Given the description of an element on the screen output the (x, y) to click on. 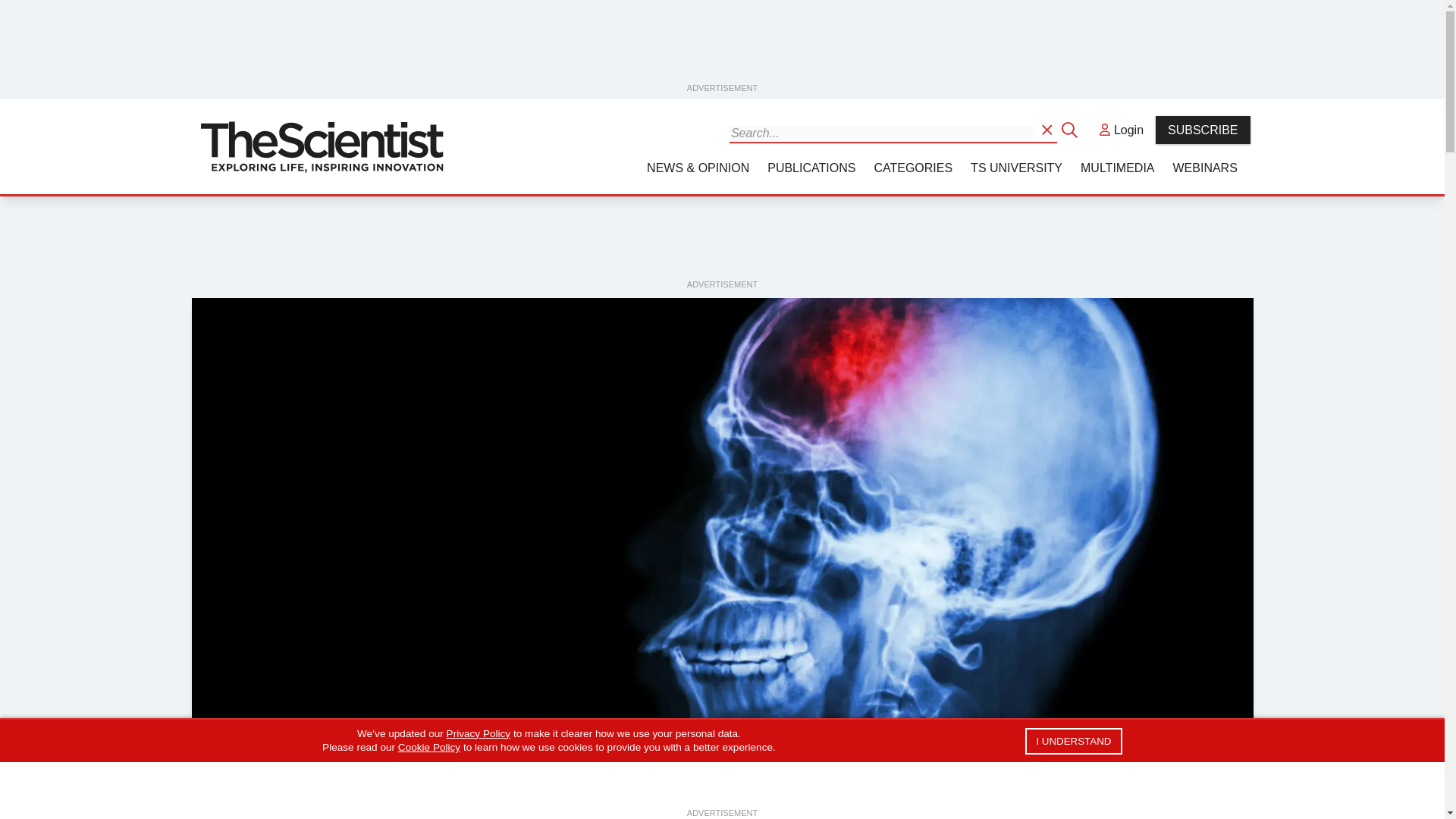
Open Search (1049, 129)
Close Search (1071, 129)
